Given the description of an element on the screen output the (x, y) to click on. 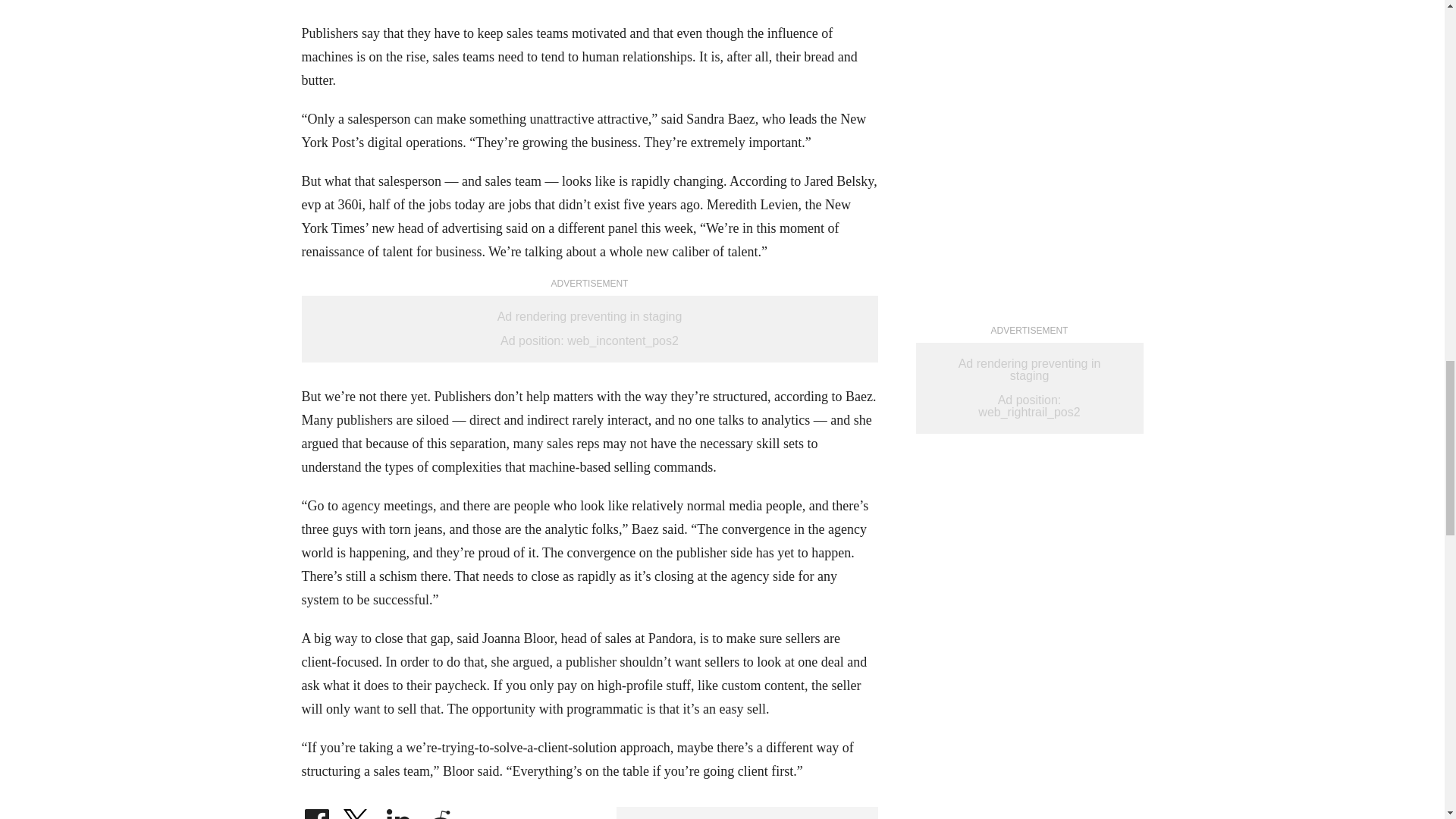
Share on Twitter (357, 814)
Share on LinkedIn (398, 814)
Share on Facebook (316, 814)
Share on Reddit (440, 814)
